Given the description of an element on the screen output the (x, y) to click on. 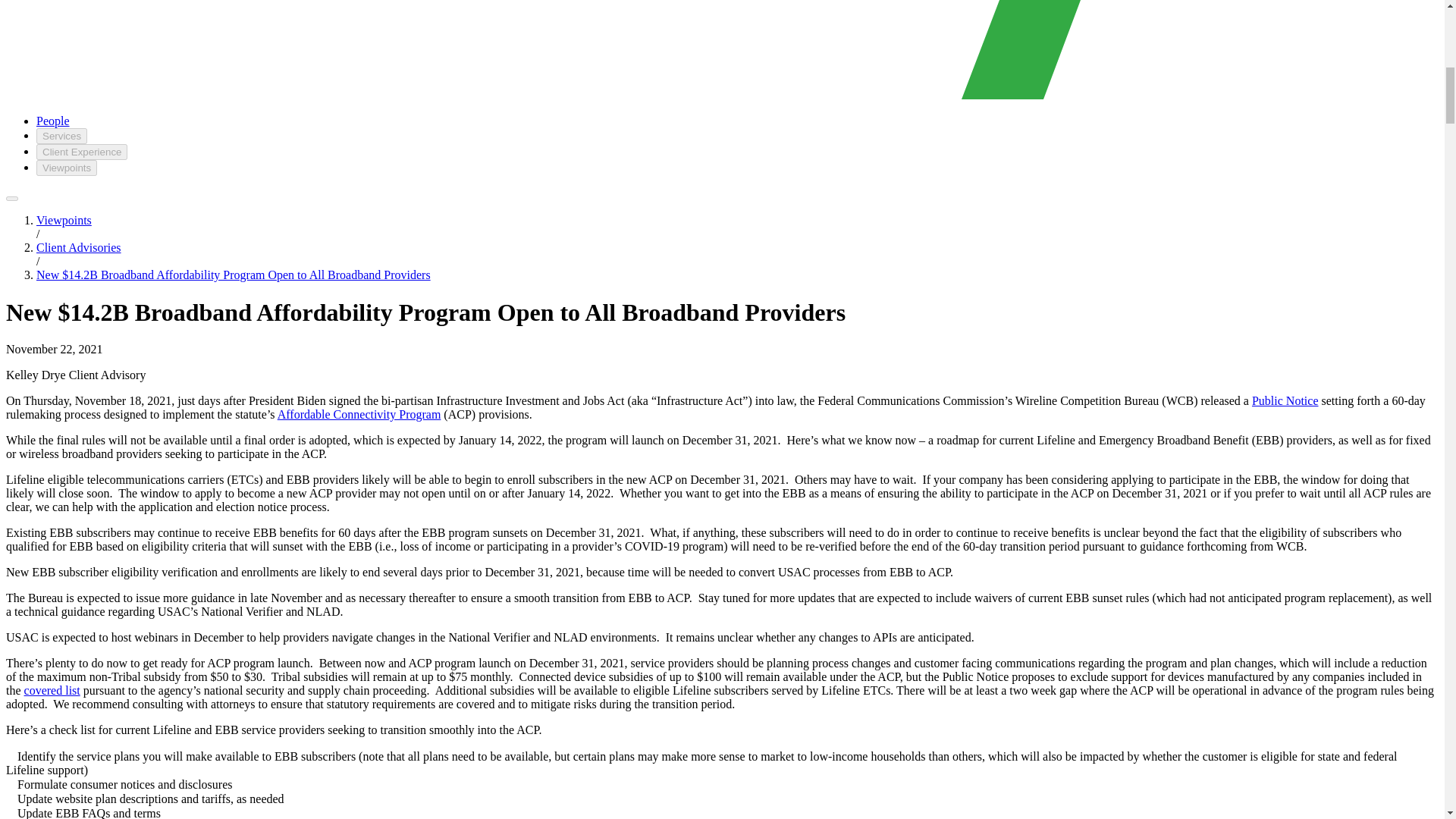
Services (61, 135)
People (52, 120)
